Given the description of an element on the screen output the (x, y) to click on. 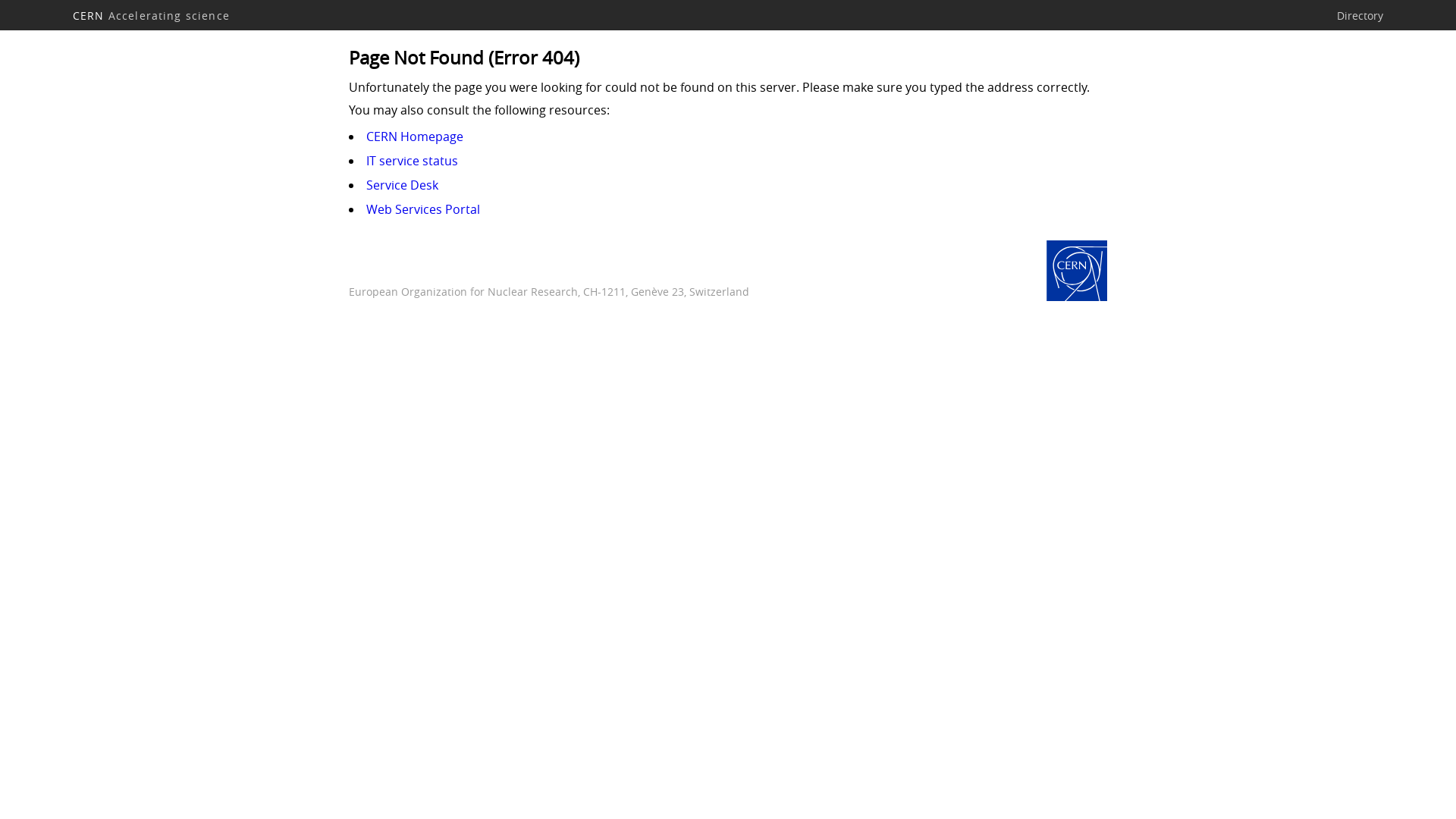
CERN Homepage Element type: hover (1076, 272)
CERN Homepage Element type: text (414, 136)
Directory Element type: text (1359, 14)
Service Desk Element type: text (402, 184)
IT service status Element type: text (412, 160)
Web Services Portal Element type: text (423, 208)
CERN Accelerating science Element type: text (150, 14)
